Given the description of an element on the screen output the (x, y) to click on. 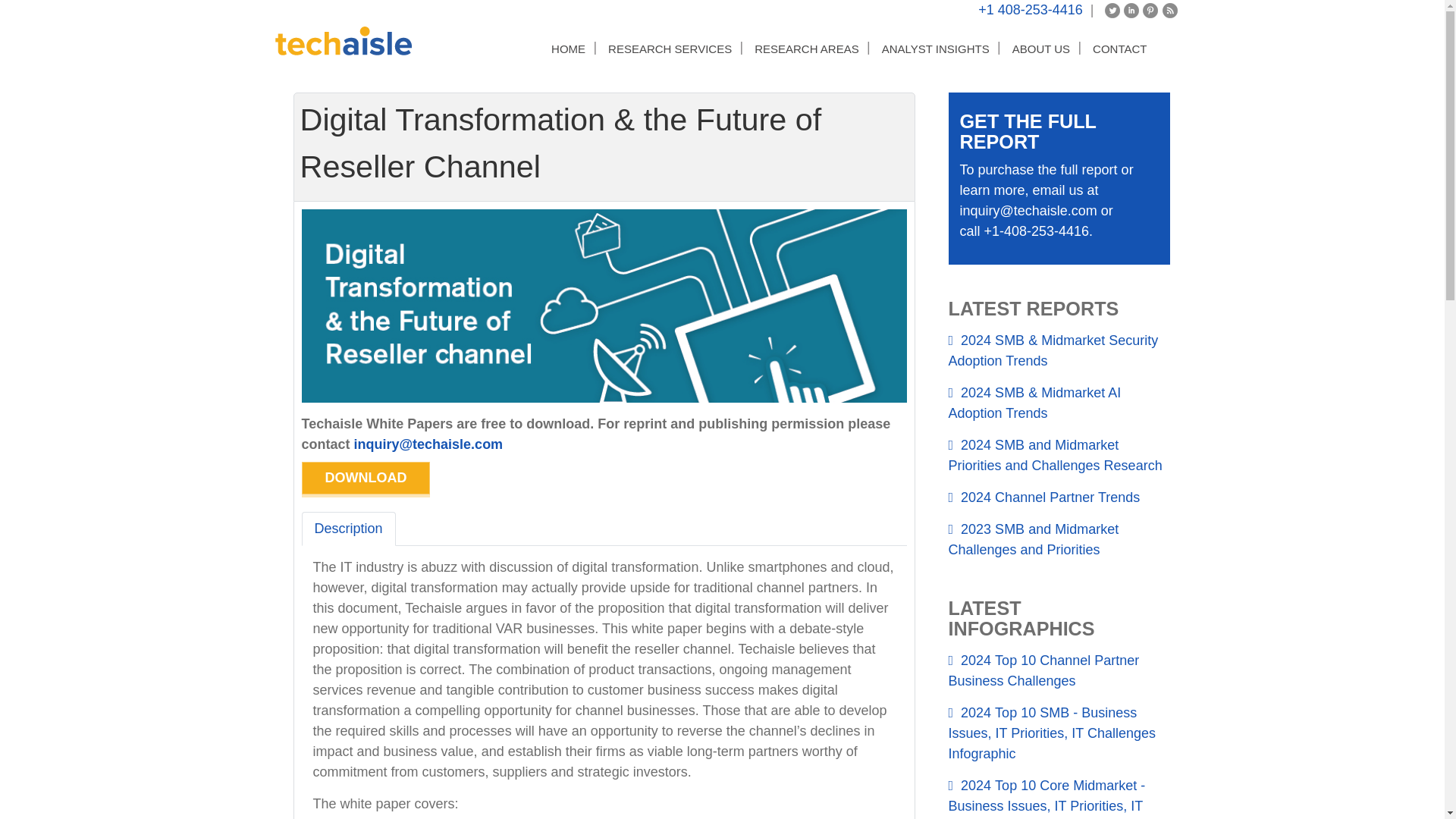
CONTACT (1120, 48)
techaisle-dx-reseller-future image (604, 305)
blog image (1168, 10)
techaisle-logo-200 image (342, 40)
linkedin image (1131, 10)
pinterest image (1149, 10)
2024 Channel Partner Trends (1058, 497)
RESEARCH SERVICES (670, 48)
2024 Top 10 Channel Partner Business Challenges (1058, 671)
Description (348, 528)
